Given the description of an element on the screen output the (x, y) to click on. 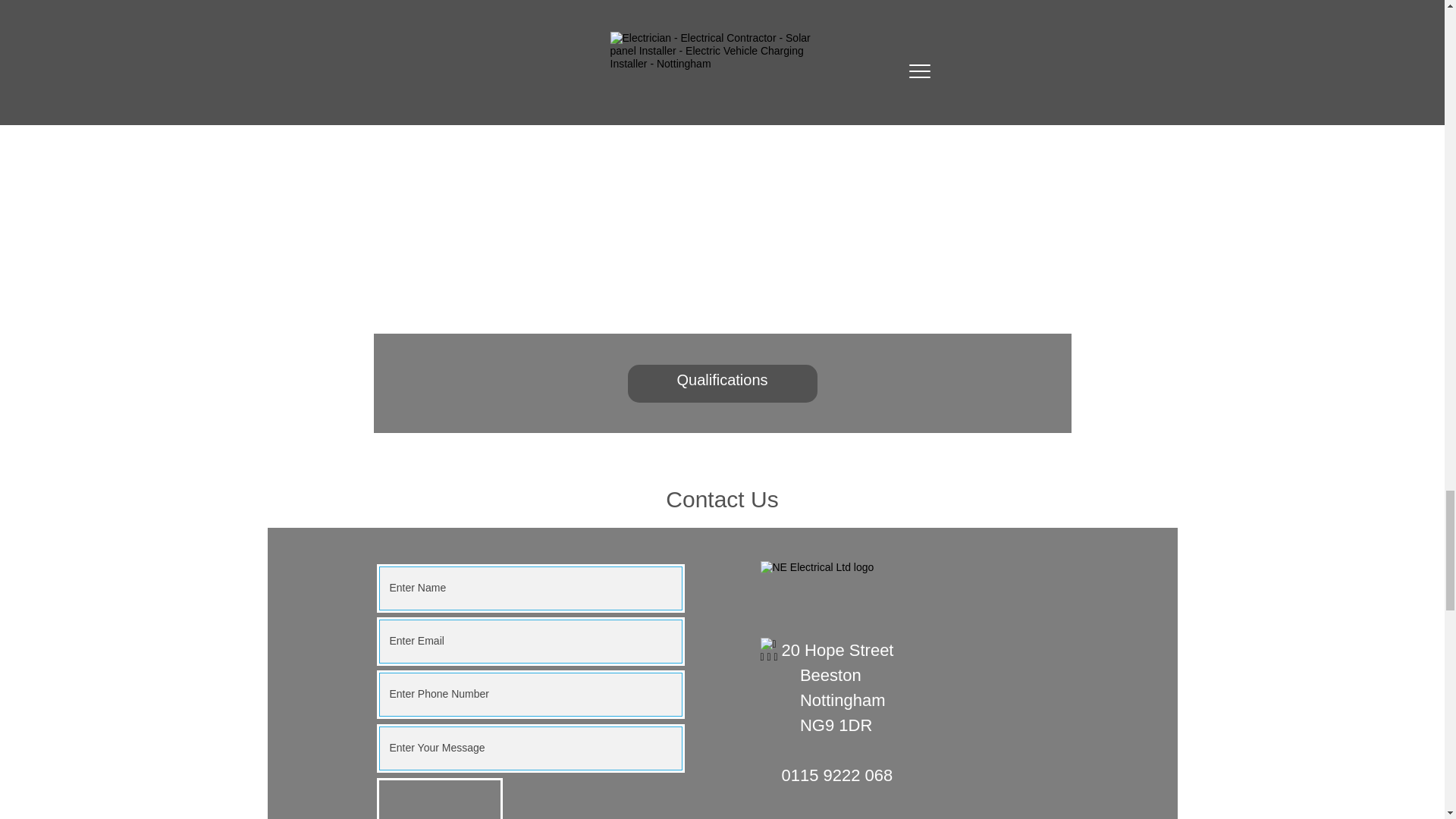
07944 756 886 (836, 816)
NE Electrical Ltd  (872, 599)
Qualifications (721, 383)
0115 9222 068 (836, 773)
